Given the description of an element on the screen output the (x, y) to click on. 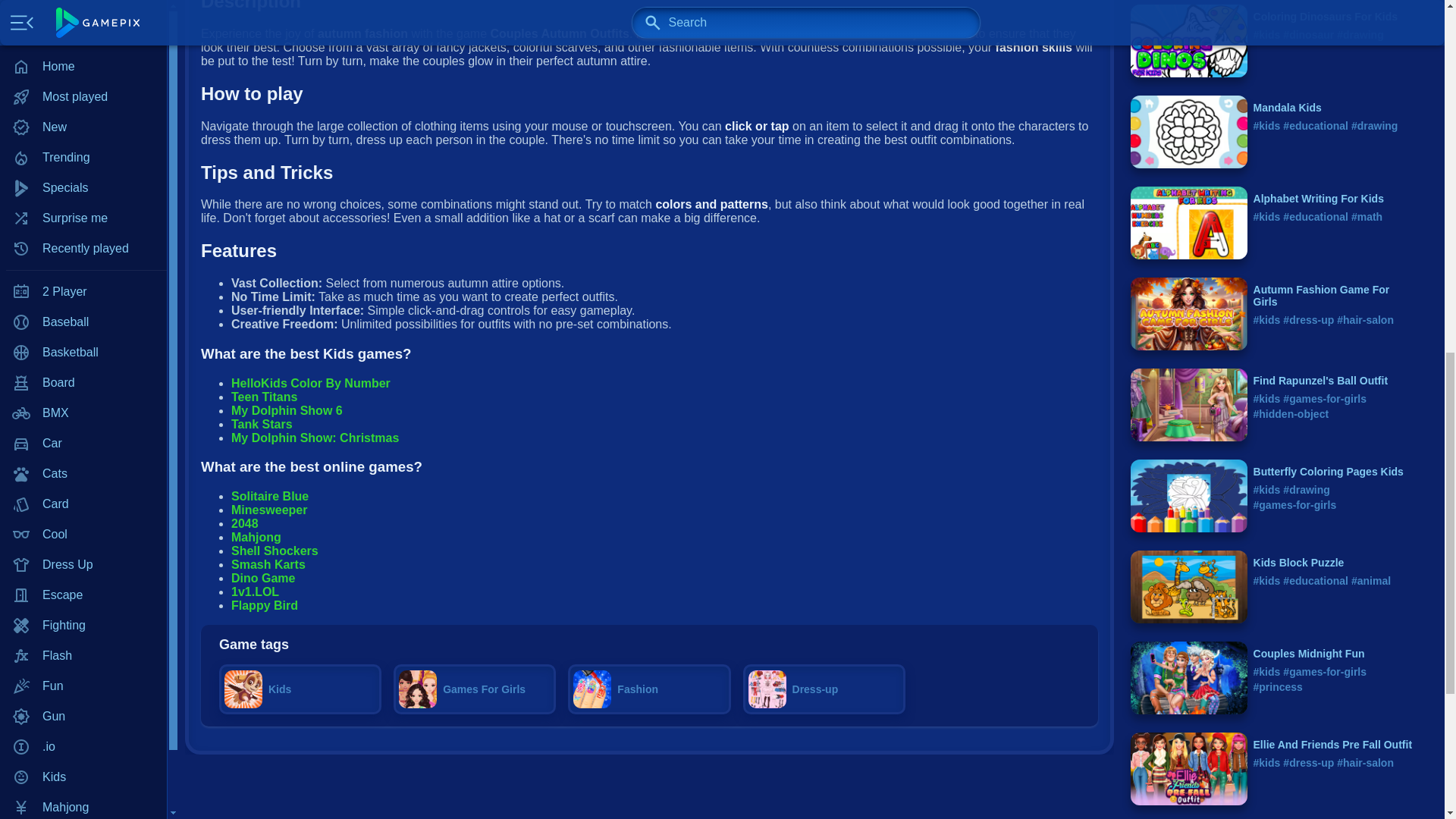
War (83, 322)
Word (83, 352)
Solitaire (83, 231)
Shooter (83, 200)
Zombie (83, 382)
Snake (83, 261)
Math (83, 49)
Puzzle (83, 110)
Mahjong (83, 2)
RPG (83, 170)
Racing (83, 140)
Mario (83, 19)
Soccer (83, 291)
Poker (83, 79)
